Given the description of an element on the screen output the (x, y) to click on. 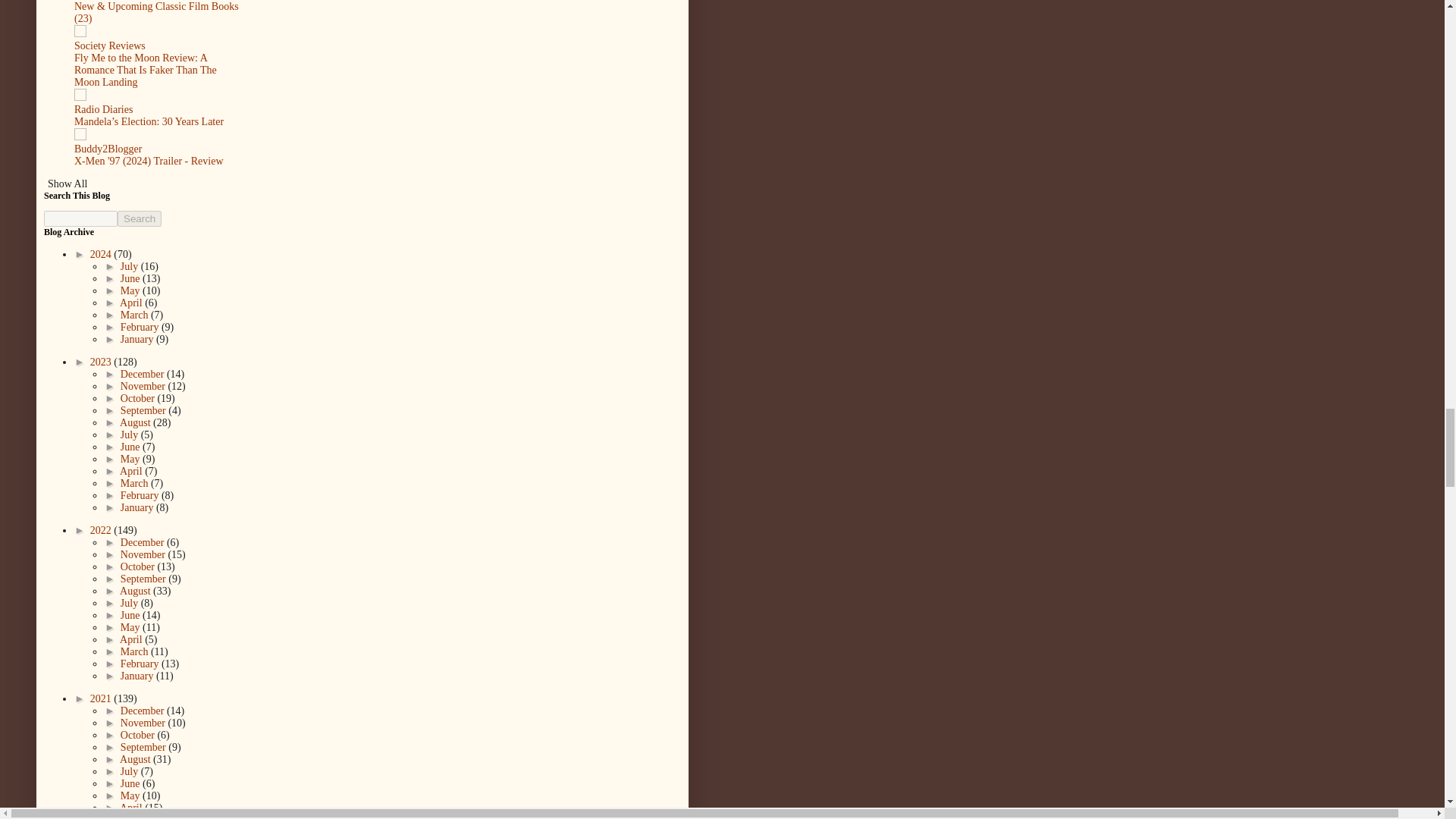
Search (139, 218)
search (139, 218)
search (80, 218)
Search (139, 218)
